Given the description of an element on the screen output the (x, y) to click on. 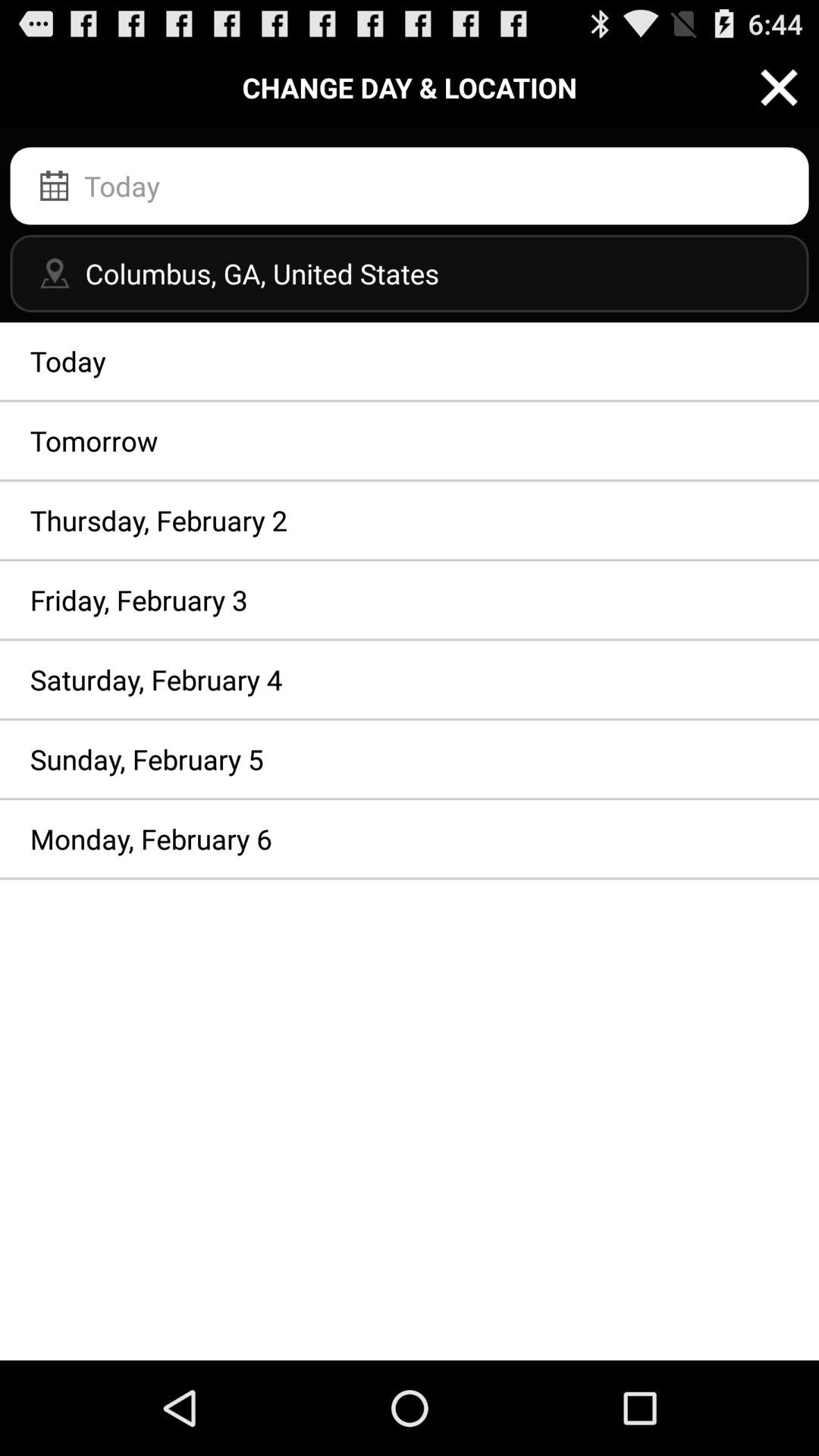
launch the icon above the today icon (409, 273)
